Given the description of an element on the screen output the (x, y) to click on. 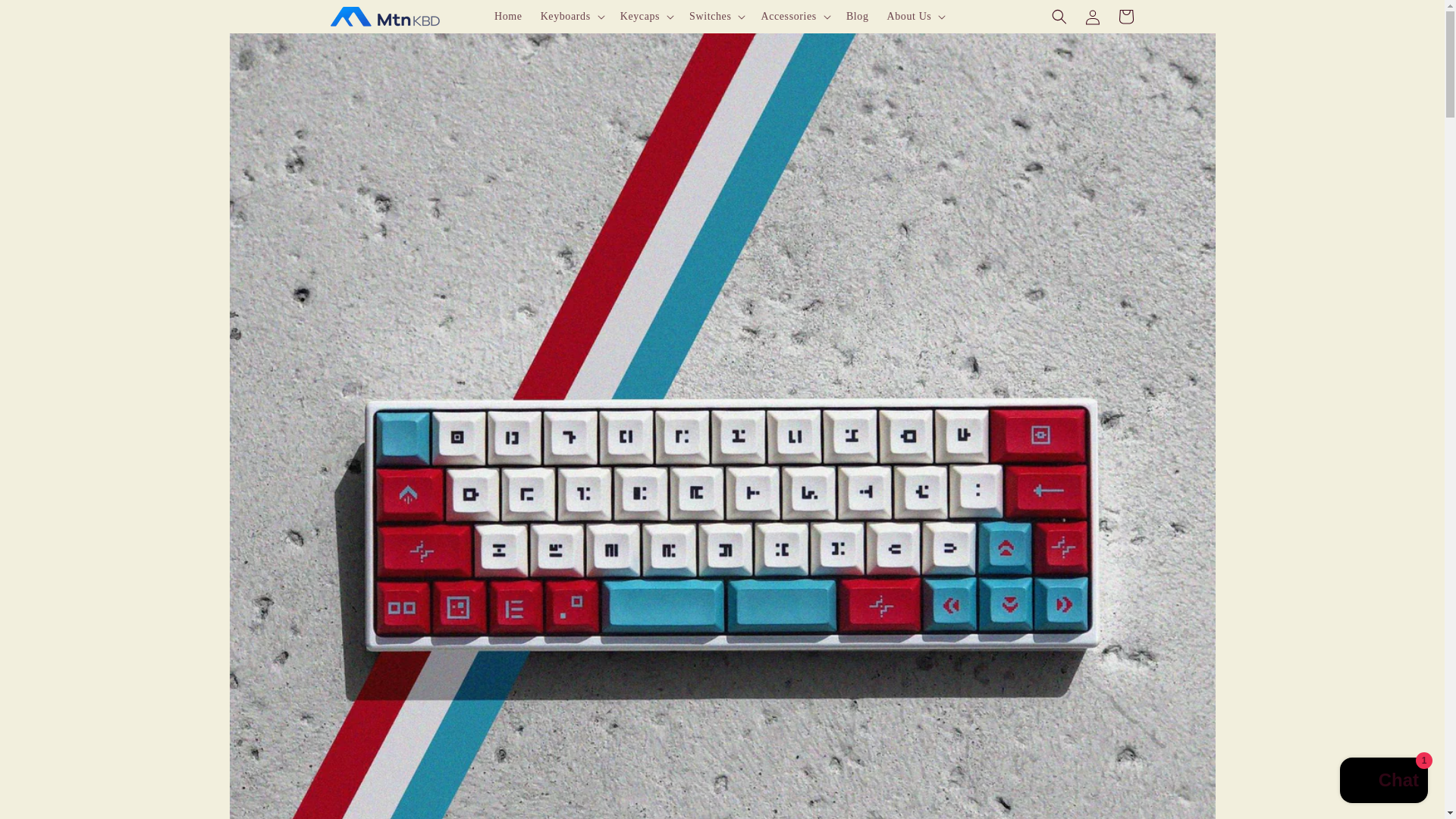
Skip to content (46, 18)
Home (507, 16)
Shopify online store chat (1383, 781)
